Given the description of an element on the screen output the (x, y) to click on. 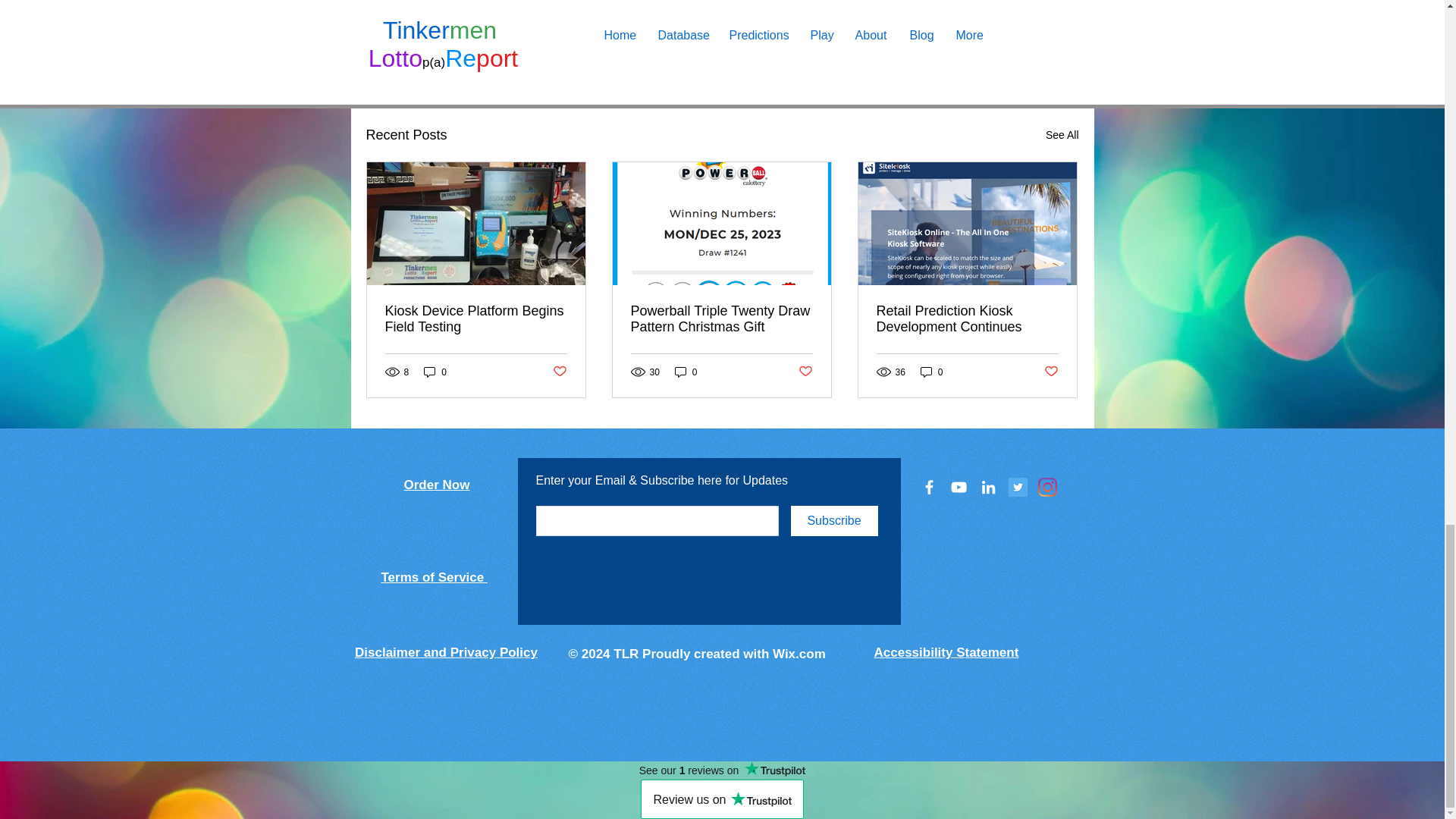
0 (435, 371)
Kiosk Device Platform Begins Field Testing (476, 318)
See All (1061, 135)
Post not marked as liked (995, 52)
